Given the description of an element on the screen output the (x, y) to click on. 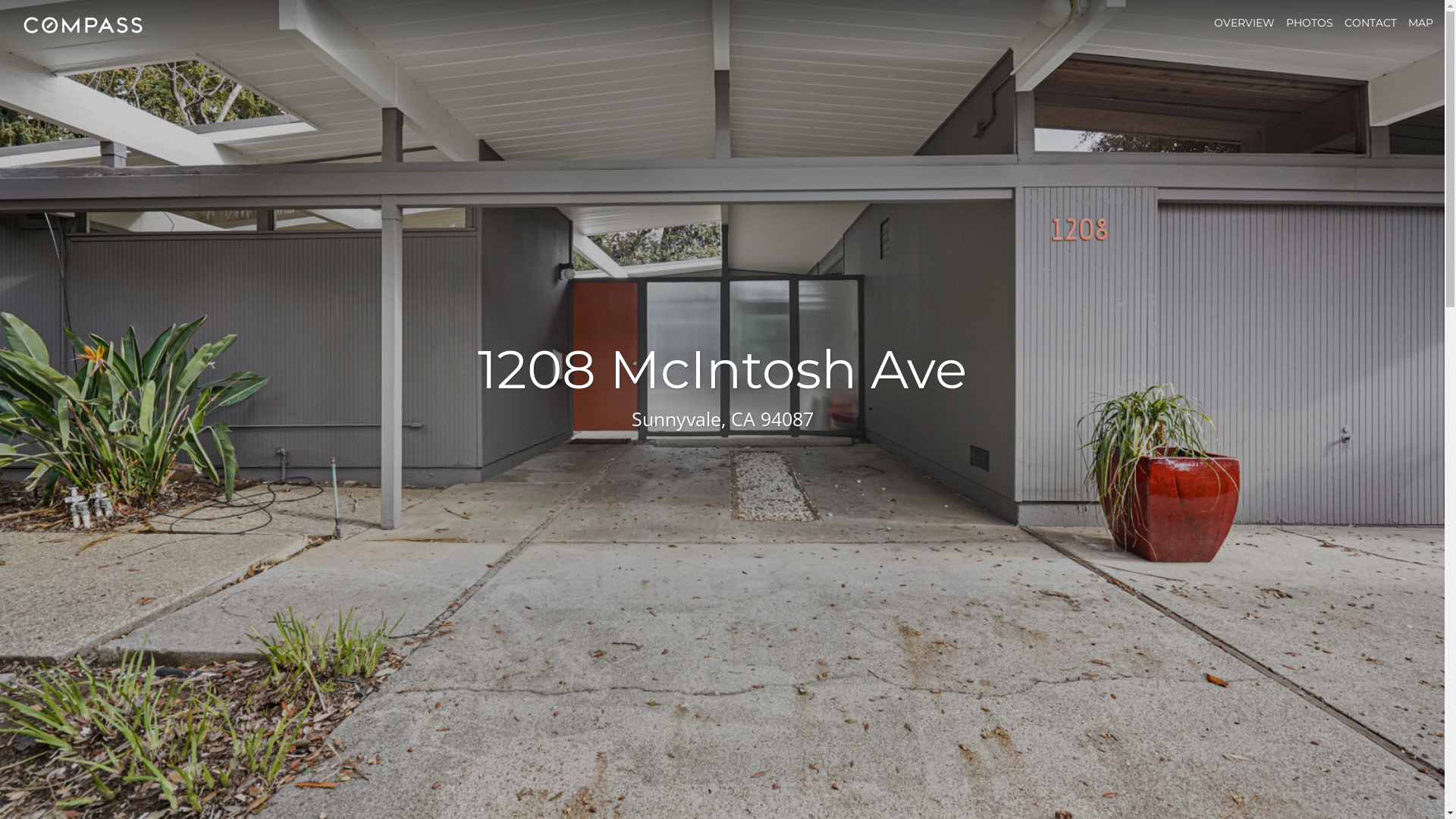
CONTACT Element type: text (1370, 22)
PHOTOS Element type: text (1309, 22)
MAP Element type: text (1420, 22)
OVERVIEW Element type: text (1244, 22)
